Given the description of an element on the screen output the (x, y) to click on. 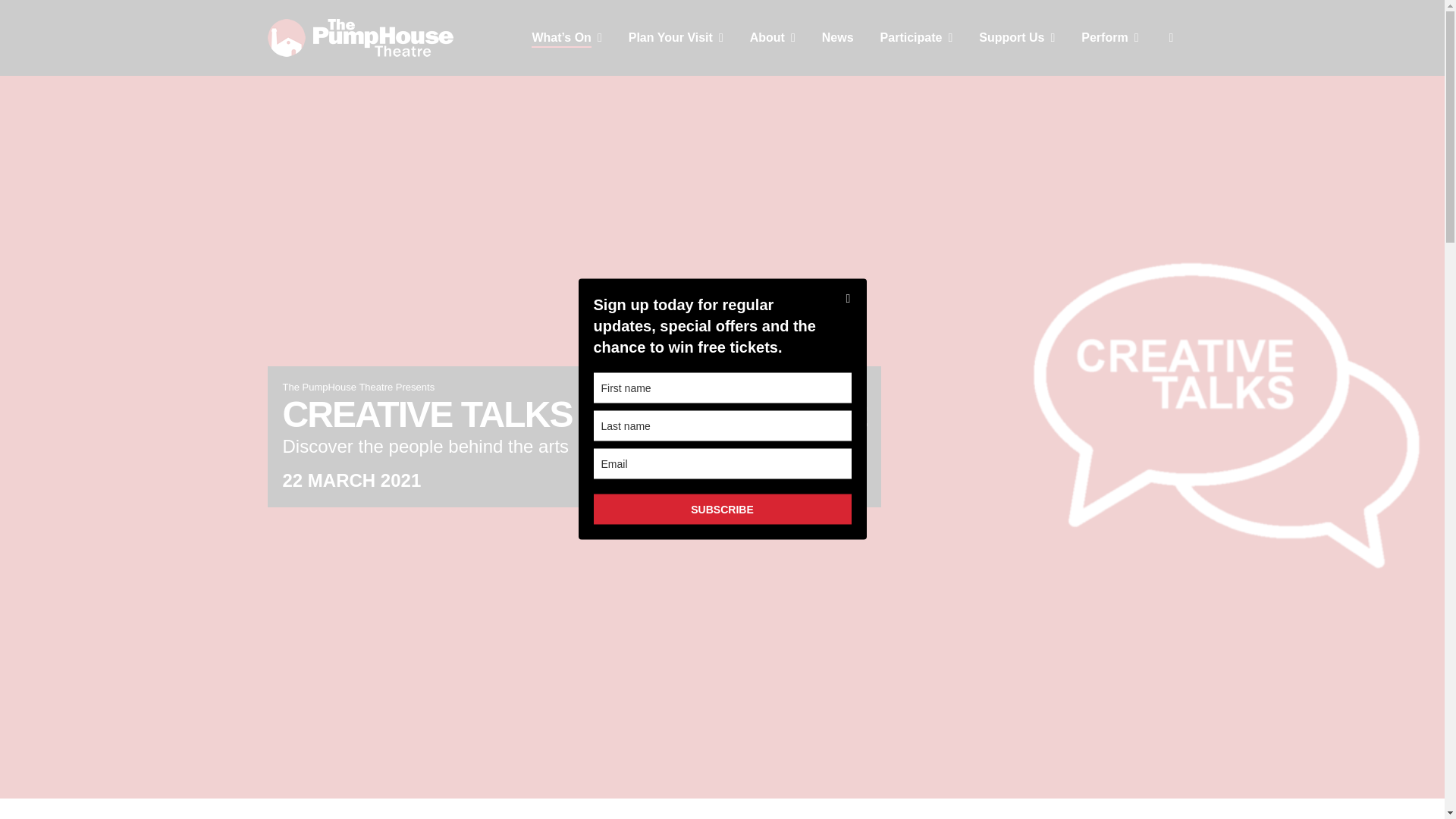
About (771, 37)
Support Us (1016, 37)
Plan Your Visit (675, 37)
Participate (916, 37)
